Given the description of an element on the screen output the (x, y) to click on. 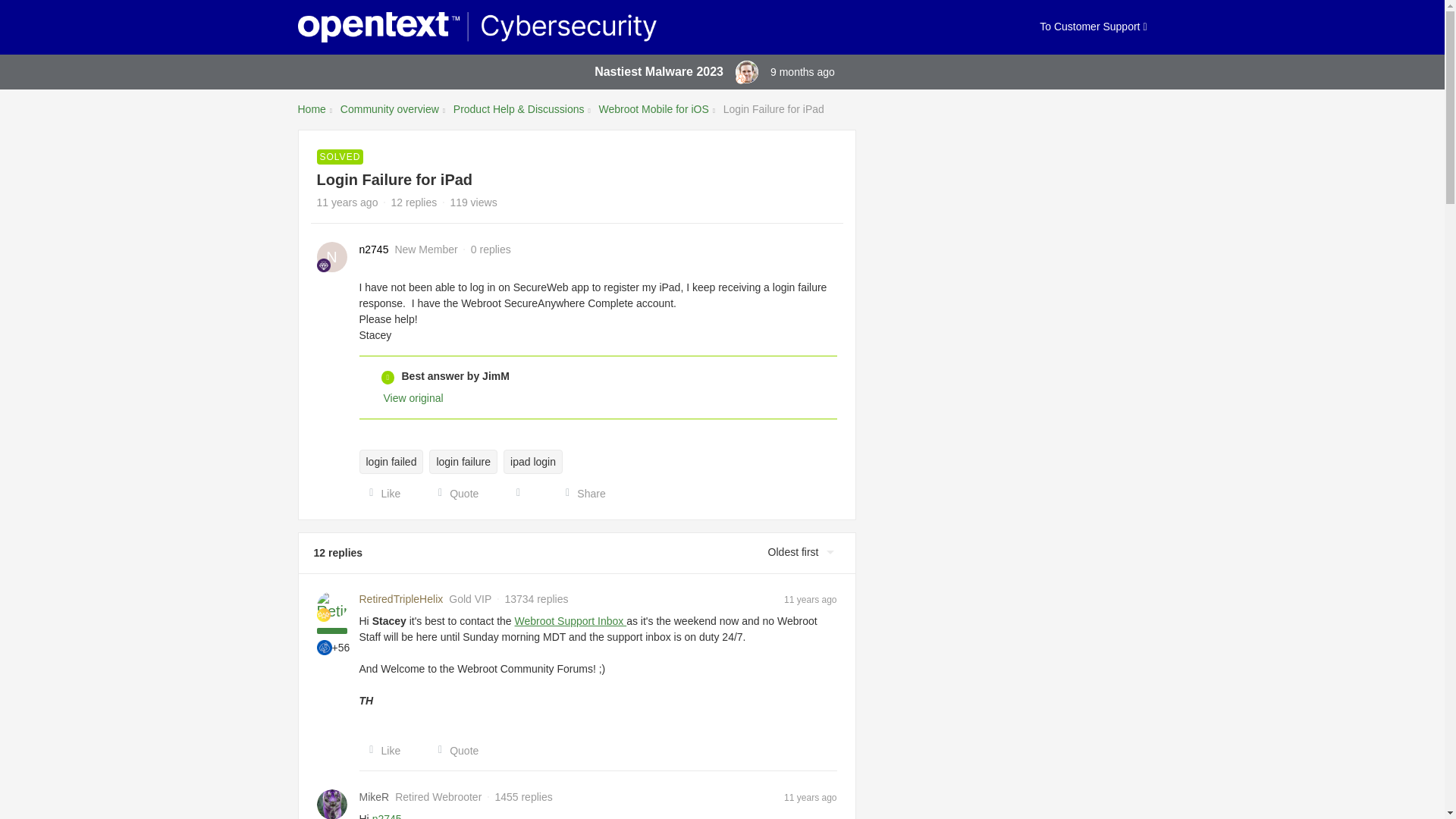
Like (380, 750)
RetiredTripleHelix (401, 599)
11 years ago (809, 598)
MikeR (374, 797)
To Customer Support (1093, 26)
Home (310, 109)
n2745 (373, 249)
n2745 (373, 249)
ipad login (532, 461)
Like (380, 493)
